Given the description of an element on the screen output the (x, y) to click on. 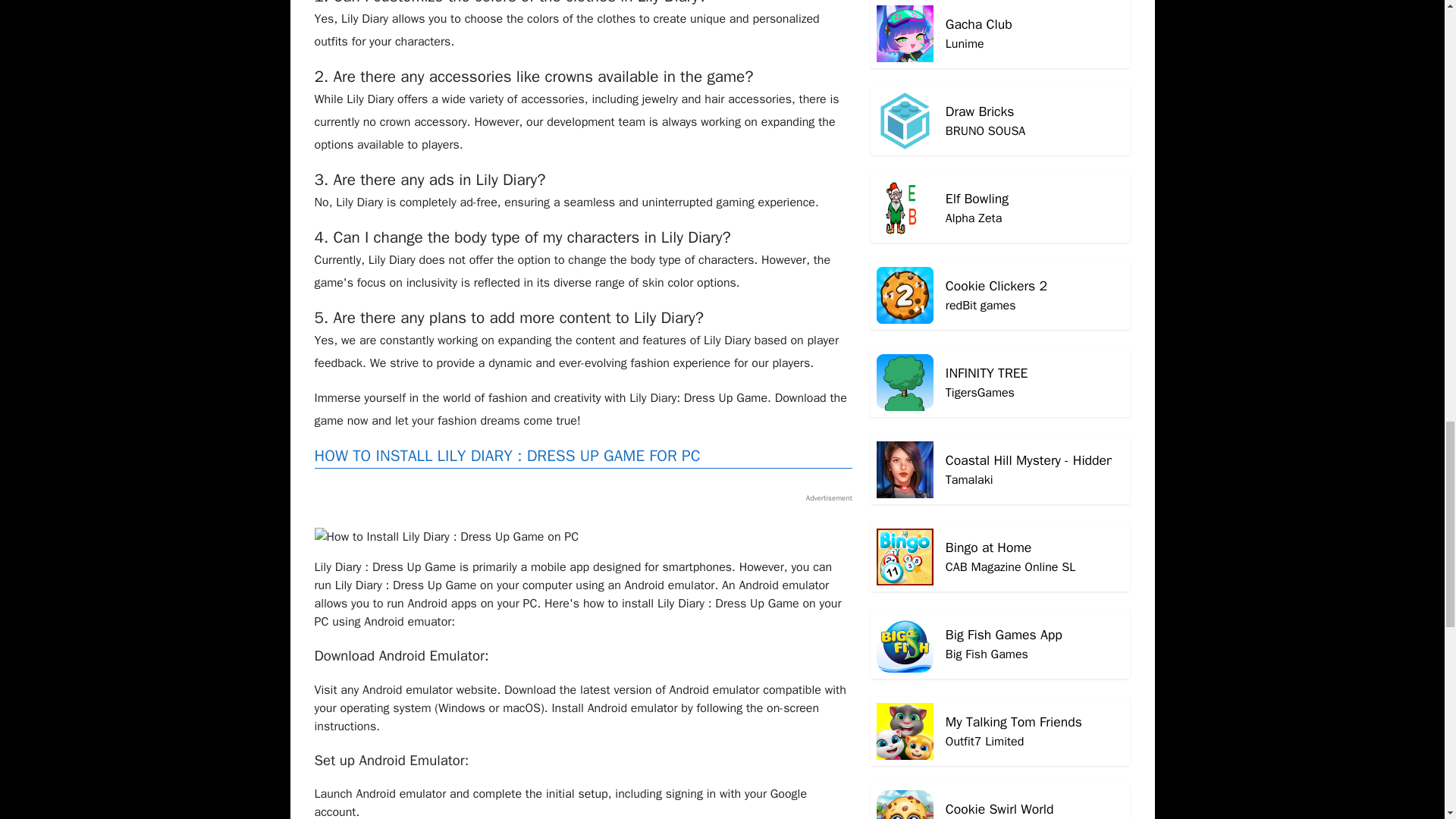
How to Install Lily Diary : Dress Up Game on PC (1000, 10)
